Given the description of an element on the screen output the (x, y) to click on. 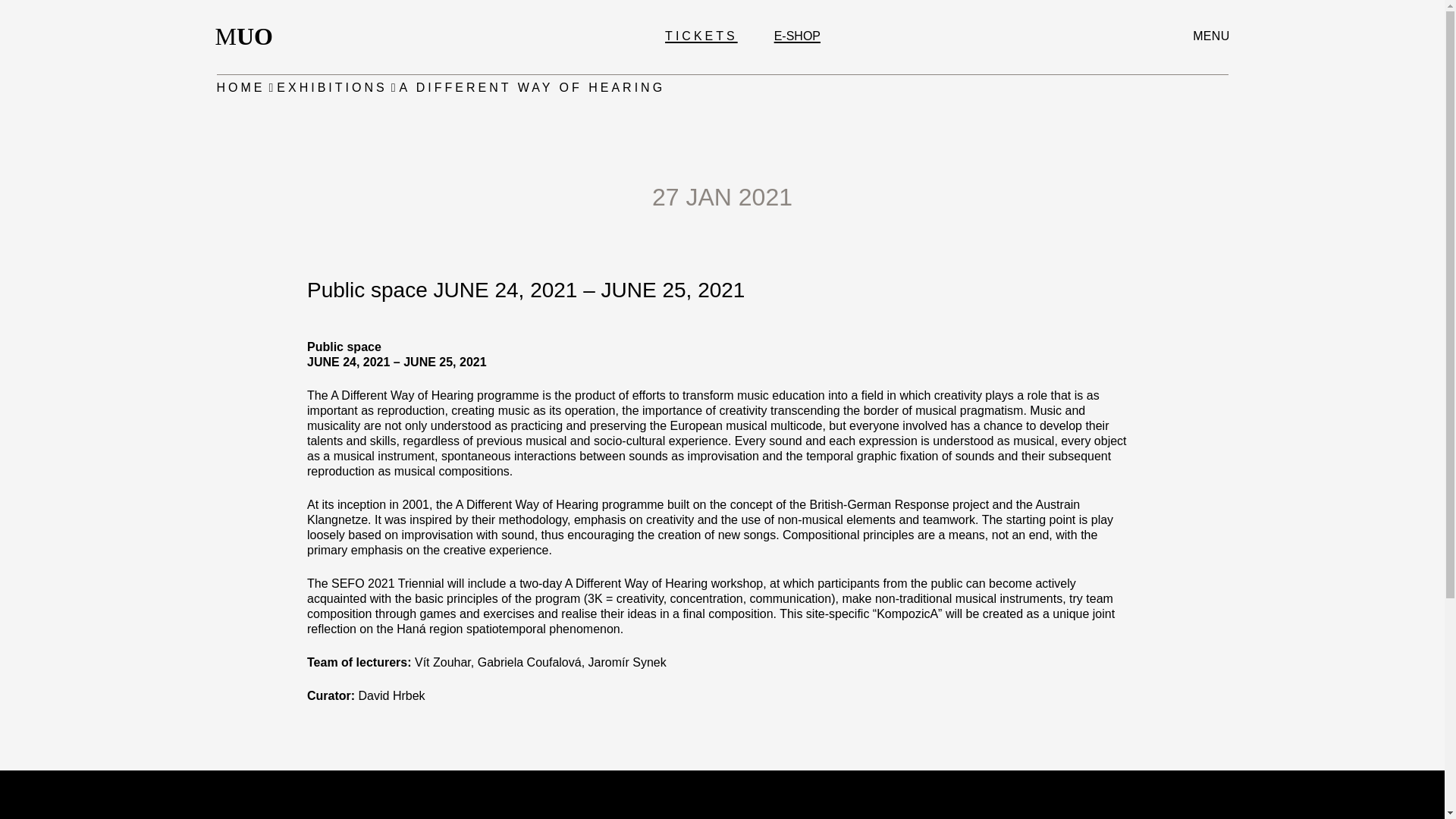
EXHIBITIONS (248, 36)
E-SHOP (331, 88)
MUSEUM OF MODERN ART (797, 35)
HOME (701, 35)
